Given the description of an element on the screen output the (x, y) to click on. 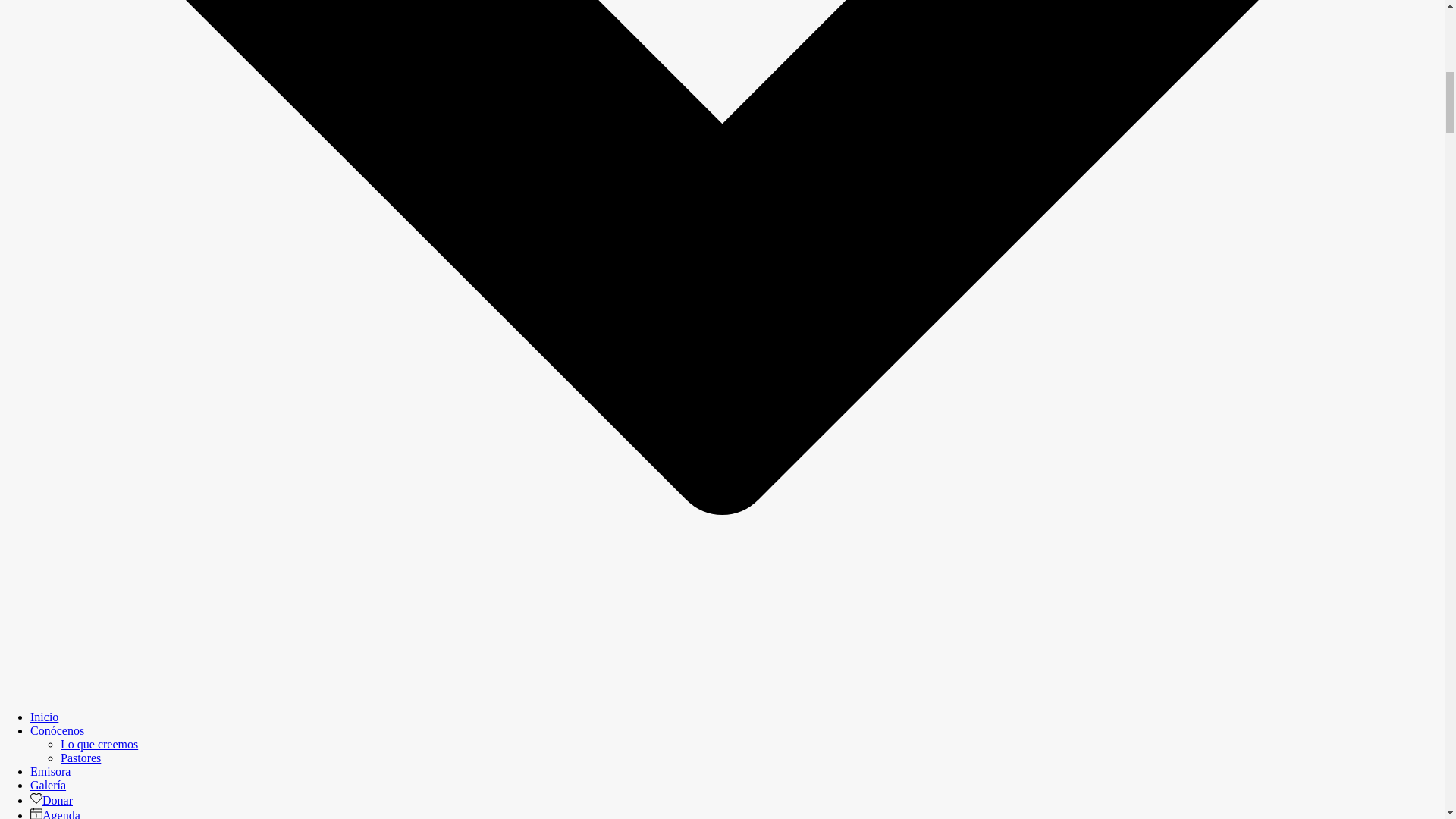
Agenda (55, 814)
Inicio (44, 716)
Agenda (55, 814)
Emisora (49, 771)
Emisora (49, 771)
Lo que creemos (99, 744)
Donar (51, 799)
Pastores (80, 757)
Lo que creemos (99, 744)
Inicio (44, 716)
Pastores (80, 757)
Donar (51, 799)
